Given the description of an element on the screen output the (x, y) to click on. 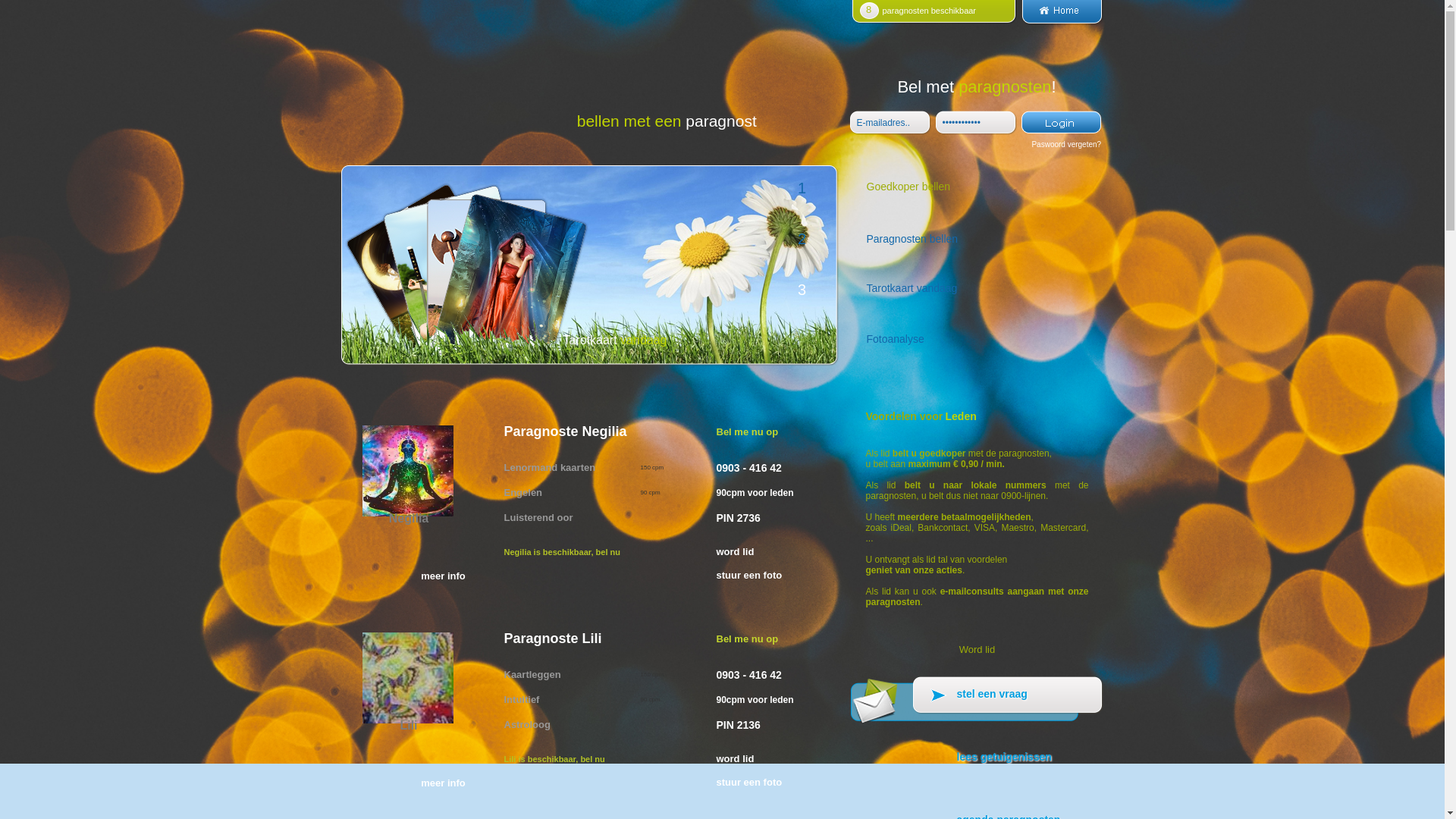
lees getuigenissen Element type: text (976, 764)
3 Element type: text (801, 291)
Intuitief Element type: text (521, 698)
Tarotkaart vandaag Element type: text (976, 291)
Paragnoste Negilia Element type: text (609, 431)
Goedkoper bellen Element type: text (976, 190)
Kaartleggen Element type: text (531, 674)
Paragnoste Lili Element type: text (609, 637)
Astroloog Element type: text (526, 724)
0903 - 416 42 Element type: text (748, 467)
Paswoord vergeten? Element type: text (1066, 144)
Paragnosten bellen Element type: text (976, 241)
90cpm voor leden Element type: text (754, 699)
meer info Element type: text (442, 782)
1 Element type: text (801, 190)
2 Element type: text (801, 241)
stuur een foto Element type: text (768, 574)
stel een vraag Element type: text (976, 701)
Tarotkaart vandaag Element type: text (688, 342)
Lenormand kaarten Element type: text (549, 466)
8 paragnosten beschikbaar - bekijk ze allemaal Element type: hover (933, 20)
timictdesign Element type: text (978, 122)
0903 - 416 42 Element type: text (748, 674)
Fotoanalyse Element type: text (976, 342)
Engelen Element type: text (522, 492)
meer info Element type: text (442, 575)
Luisterend oor Element type: text (537, 516)
E-mailadres.. Element type: text (892, 122)
word lid Element type: text (768, 551)
90cpm voor leden Element type: text (754, 491)
stuur een foto Element type: text (768, 781)
Home bellenparagnost.be - Bellen met een paragnost Element type: hover (1061, 21)
word lid Element type: text (768, 758)
Word lid Element type: text (976, 650)
